Given the description of an element on the screen output the (x, y) to click on. 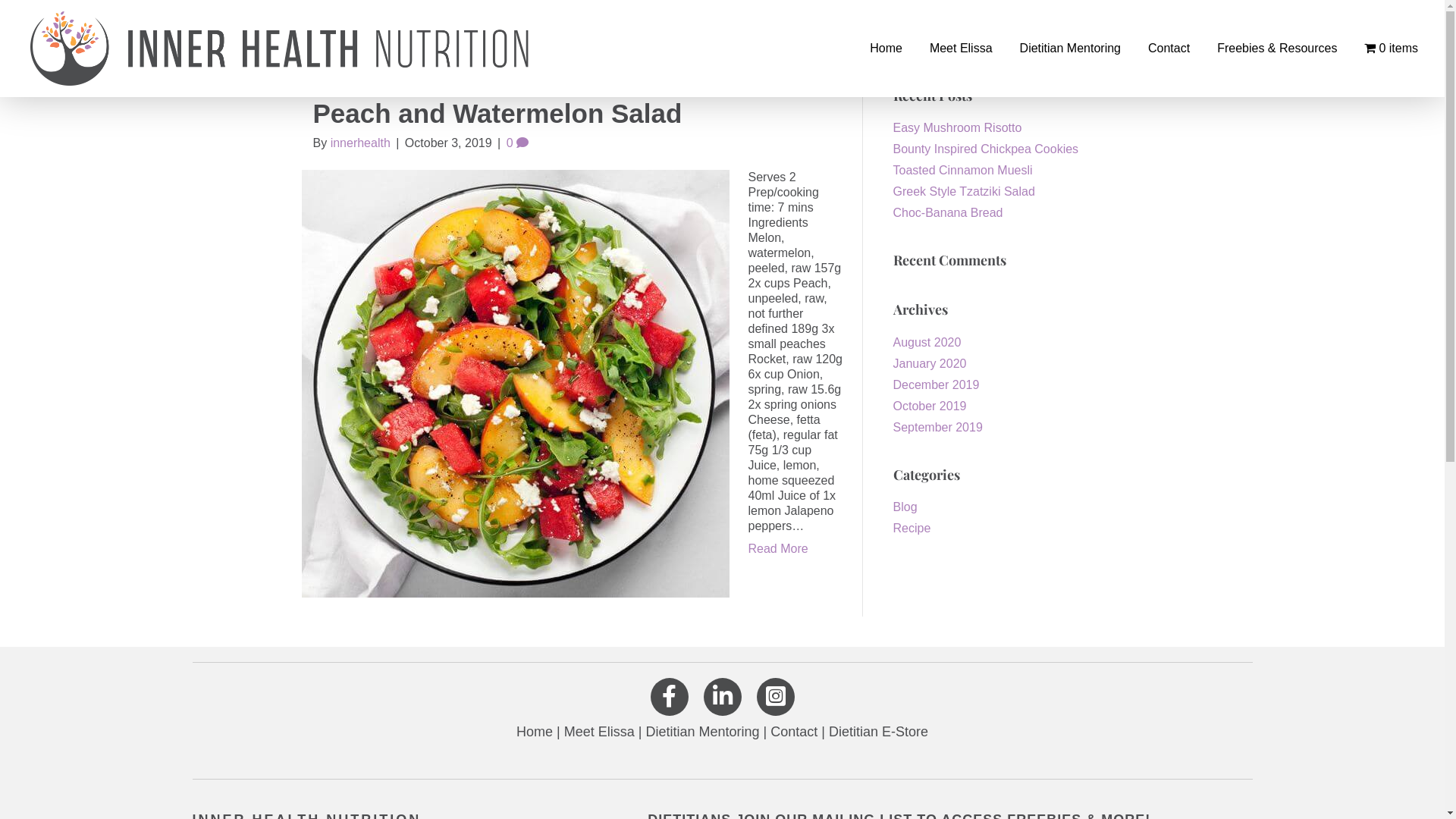
Choc-Banana Bread Element type: text (948, 212)
August 2020 Element type: text (927, 341)
Meet Elissa Element type: text (599, 731)
Inner Health Revised-02 Element type: hover (280, 48)
Type and press Enter to search. Element type: hover (1012, 43)
innerhealth Element type: text (360, 142)
Contact Element type: text (793, 731)
Home Element type: text (534, 731)
Freebies & Resources Element type: text (1274, 48)
Dietitian Mentoring Element type: text (1068, 48)
Bounty Inspired Chickpea Cookies Element type: text (986, 148)
Dietitian E-Store Element type: text (878, 731)
Recipe Element type: text (912, 527)
Toasted Cinnamon Muesli Element type: text (962, 169)
Home Element type: text (883, 48)
Meet Elissa Element type: text (959, 48)
Dietitian Mentoring Element type: text (702, 731)
Peach and Watermelon Salad Element type: text (496, 113)
Peach and Watermelon Salad Element type: hover (515, 382)
Greek Style Tzatziki Salad Element type: text (964, 191)
December 2019 Element type: text (936, 384)
Read More Element type: text (777, 548)
September 2019 Element type: text (937, 426)
0 items Element type: text (1389, 48)
January 2020 Element type: text (929, 363)
Blog Element type: text (905, 506)
October 2019 Element type: text (929, 405)
0 Element type: text (517, 142)
Easy Mushroom Risotto Element type: text (957, 127)
Contact Element type: text (1166, 48)
